Given the description of an element on the screen output the (x, y) to click on. 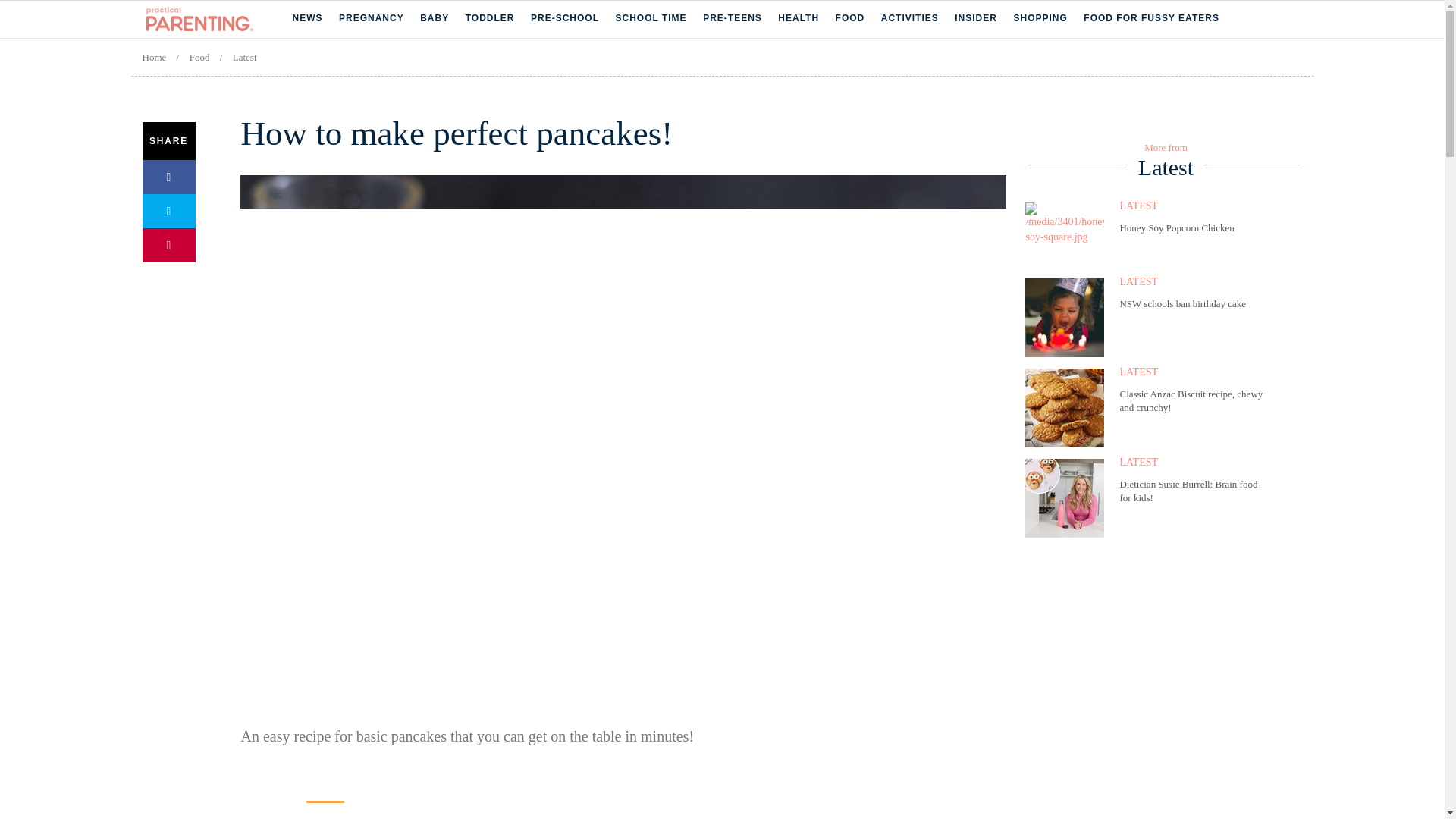
PREGNANCY (371, 18)
BABY (434, 18)
NEWS (307, 18)
TODDLER (490, 18)
Home (218, 18)
